Given the description of an element on the screen output the (x, y) to click on. 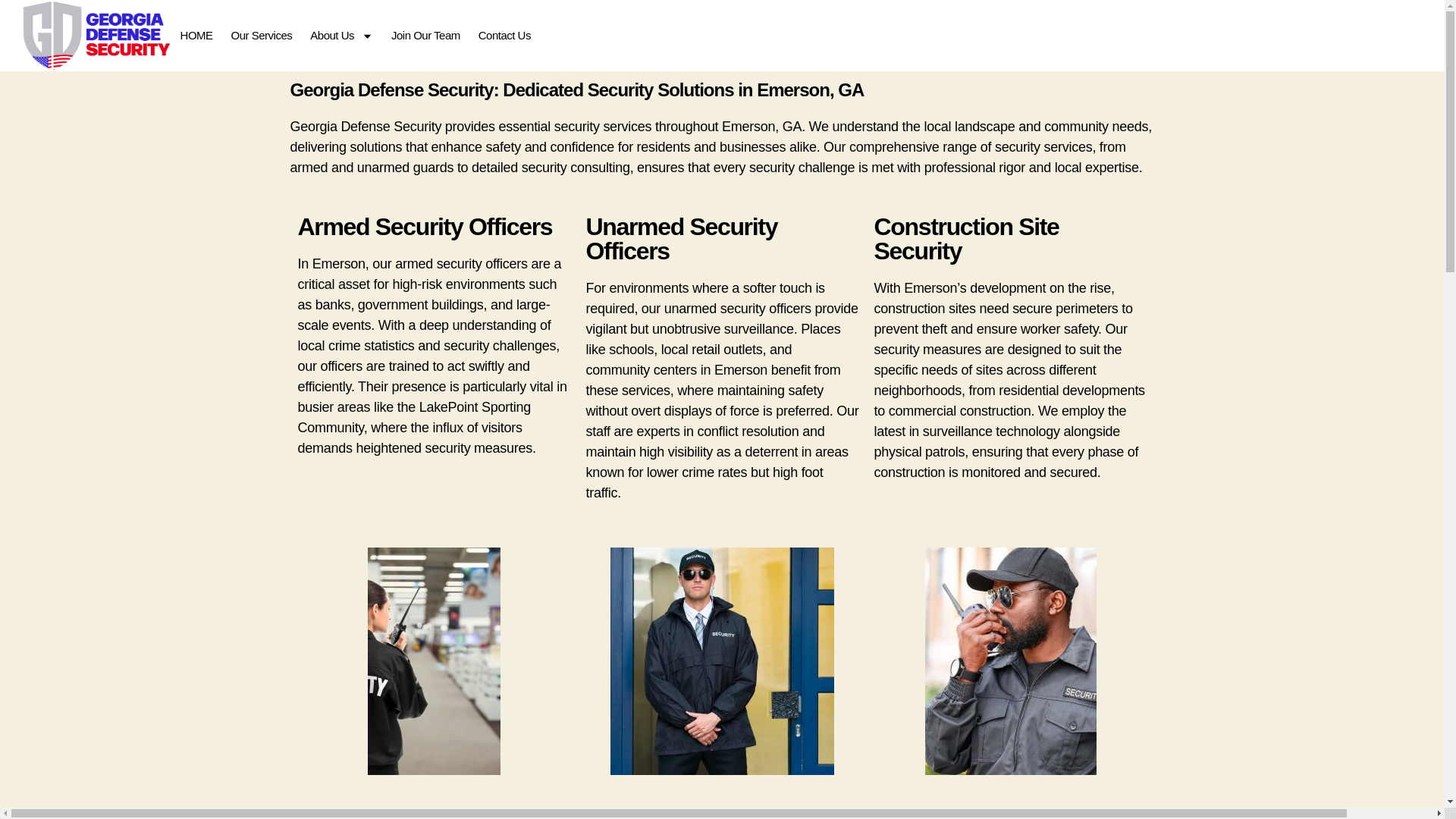
Our Services (261, 35)
HOME (196, 35)
Join Our Team (424, 35)
Contact Us (504, 35)
About Us (341, 35)
